Given the description of an element on the screen output the (x, y) to click on. 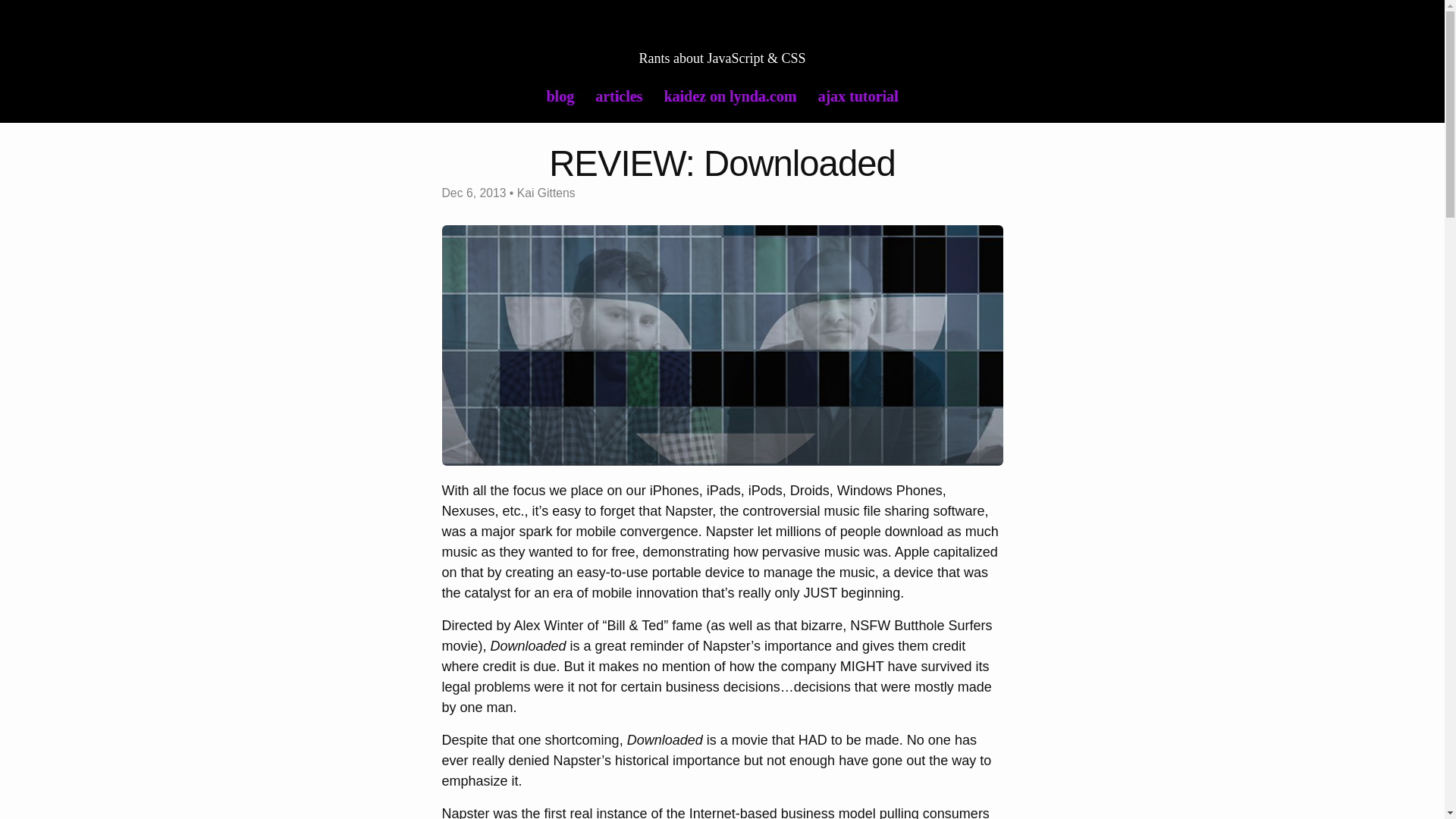
articles (618, 95)
ajax tutorial (857, 95)
blog (559, 95)
kaidez on lynda.com (729, 95)
